Given the description of an element on the screen output the (x, y) to click on. 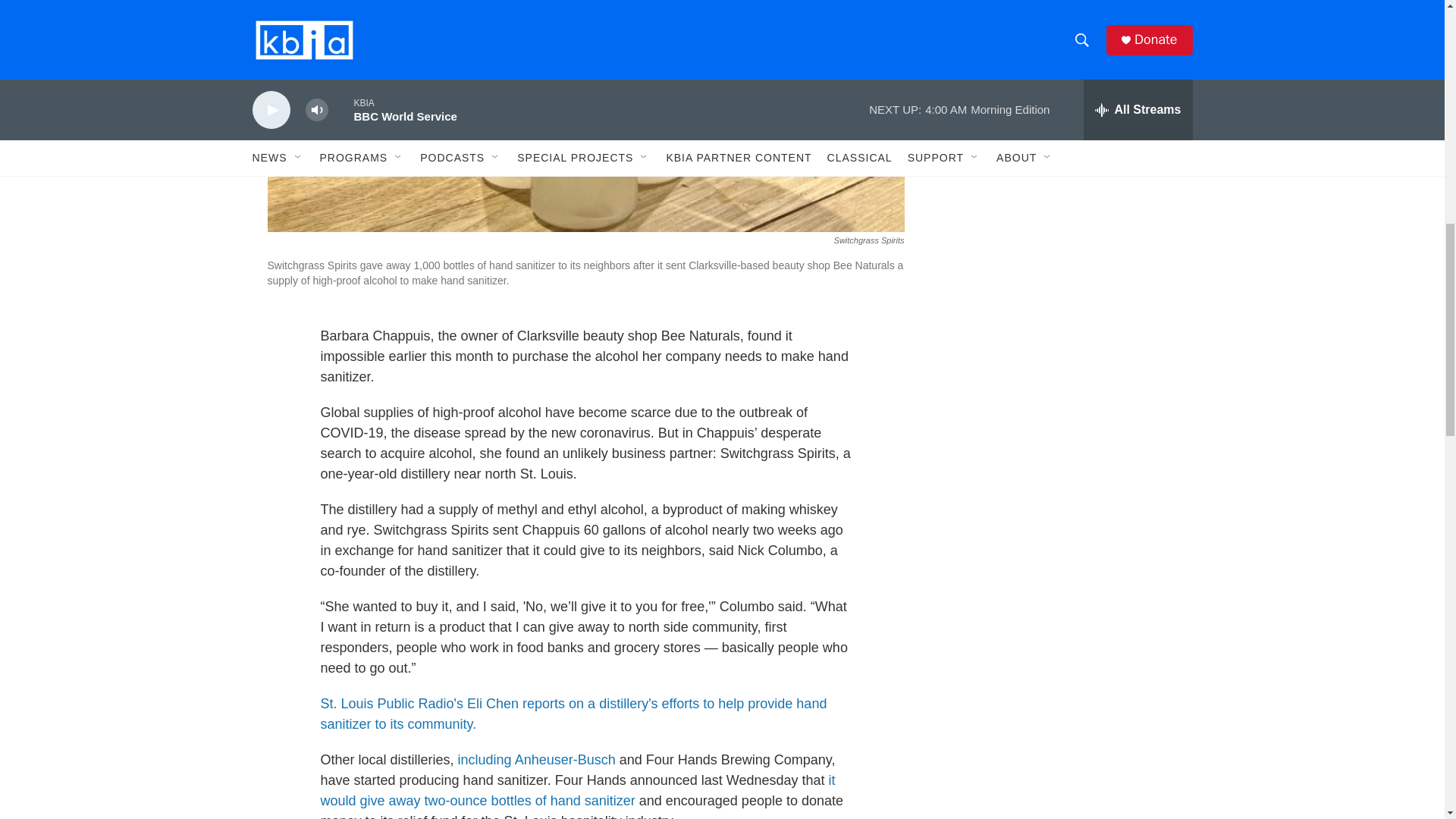
3rd party ad content (1062, 16)
